Given the description of an element on the screen output the (x, y) to click on. 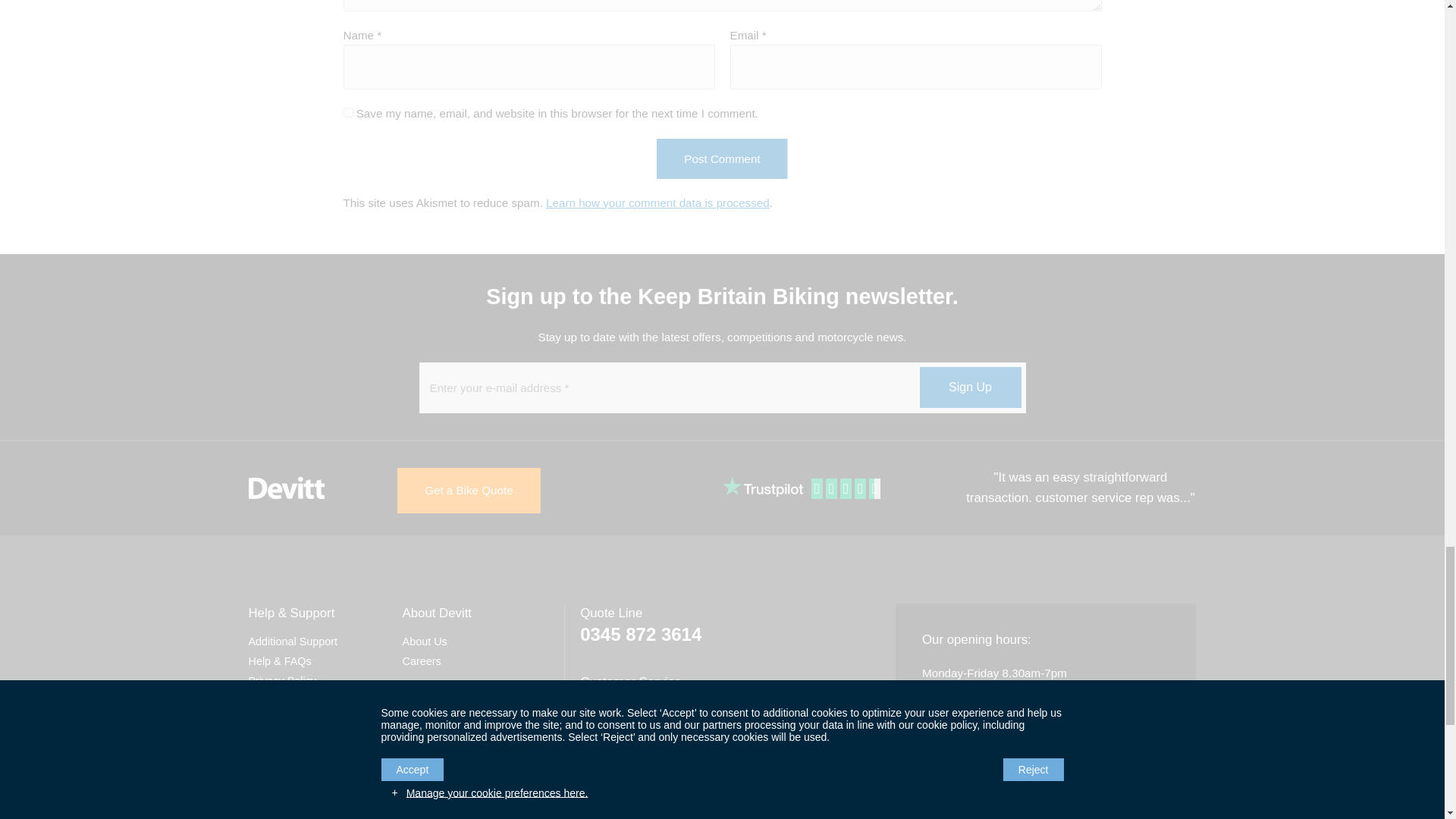
Post Comment (721, 158)
Get in-touch with the Devitt team (926, 812)
Rated 4.5 stars out of 5 (846, 489)
Sign Up (969, 386)
yes (347, 112)
Return to Devitt Insurance homepage (286, 487)
